Given the description of an element on the screen output the (x, y) to click on. 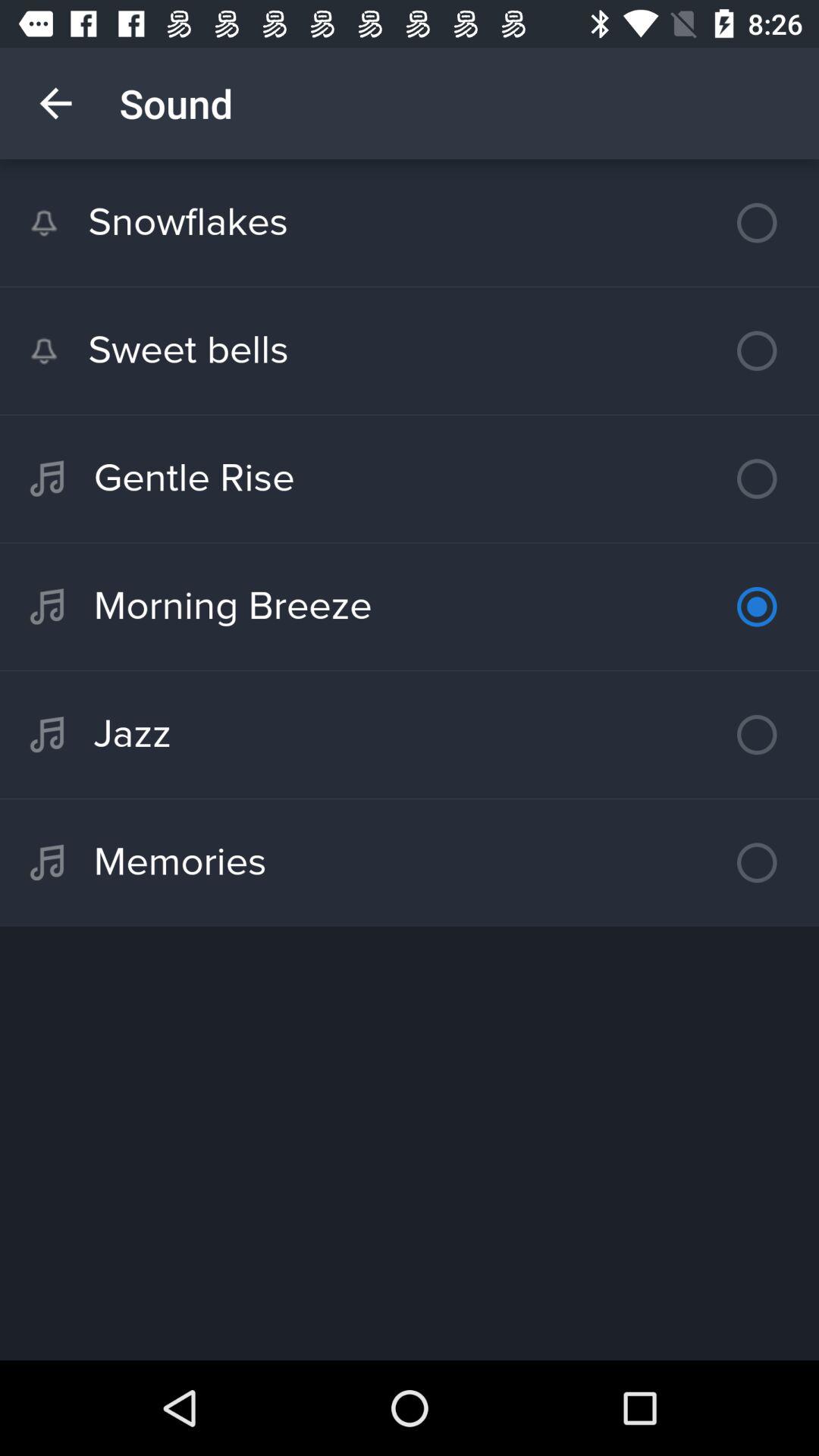
flip until memories icon (409, 862)
